Given the description of an element on the screen output the (x, y) to click on. 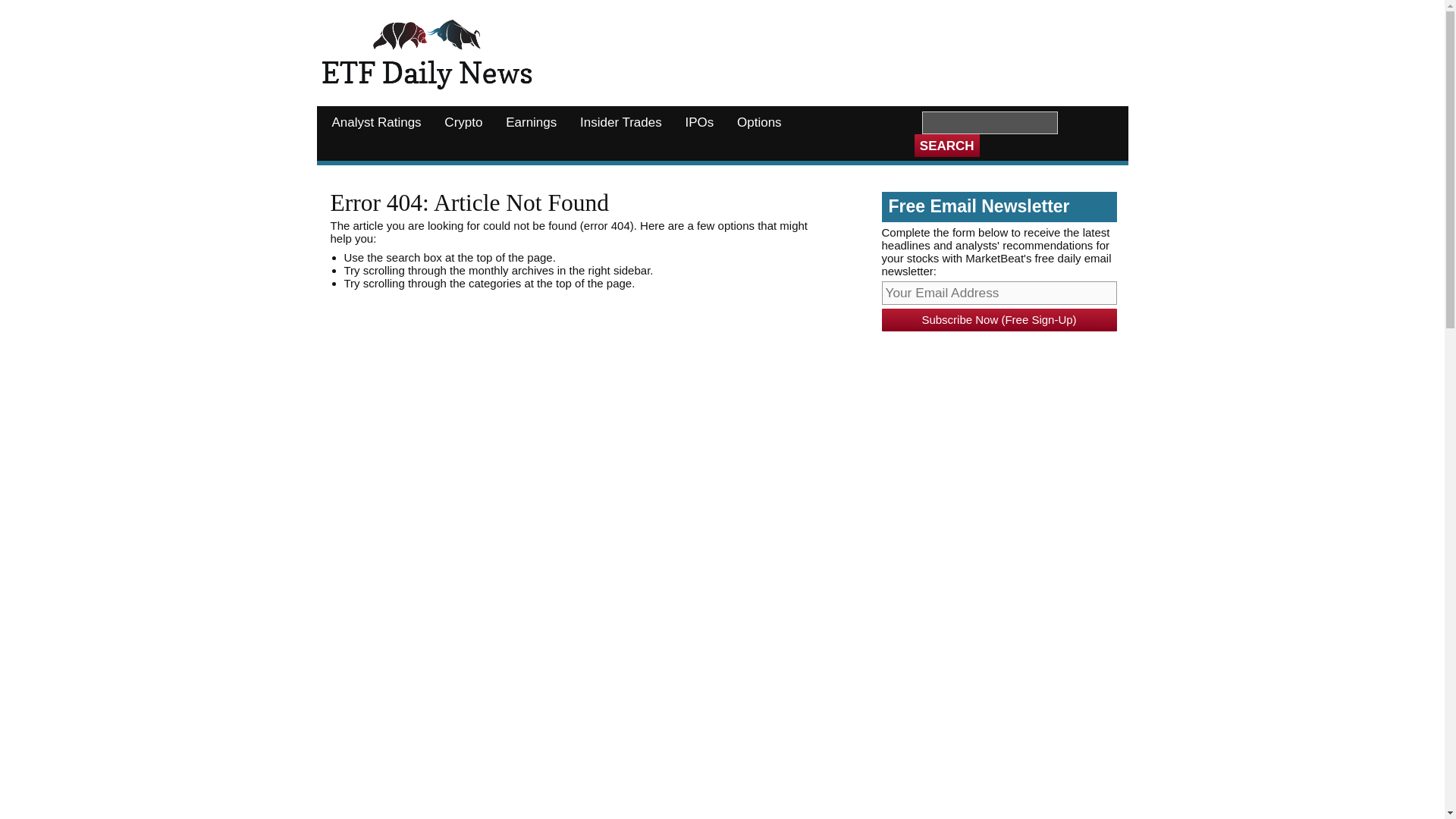
Earnings (530, 122)
SEARCH (946, 146)
Analyst Ratings (376, 122)
SEARCH (946, 146)
Insider Trades (620, 122)
Options (759, 122)
SEARCH (946, 146)
ETF Daily News (427, 56)
IPOs (699, 122)
3rd party ad content (832, 49)
Crypto (462, 122)
3rd party ad content (994, 438)
